Given the description of an element on the screen output the (x, y) to click on. 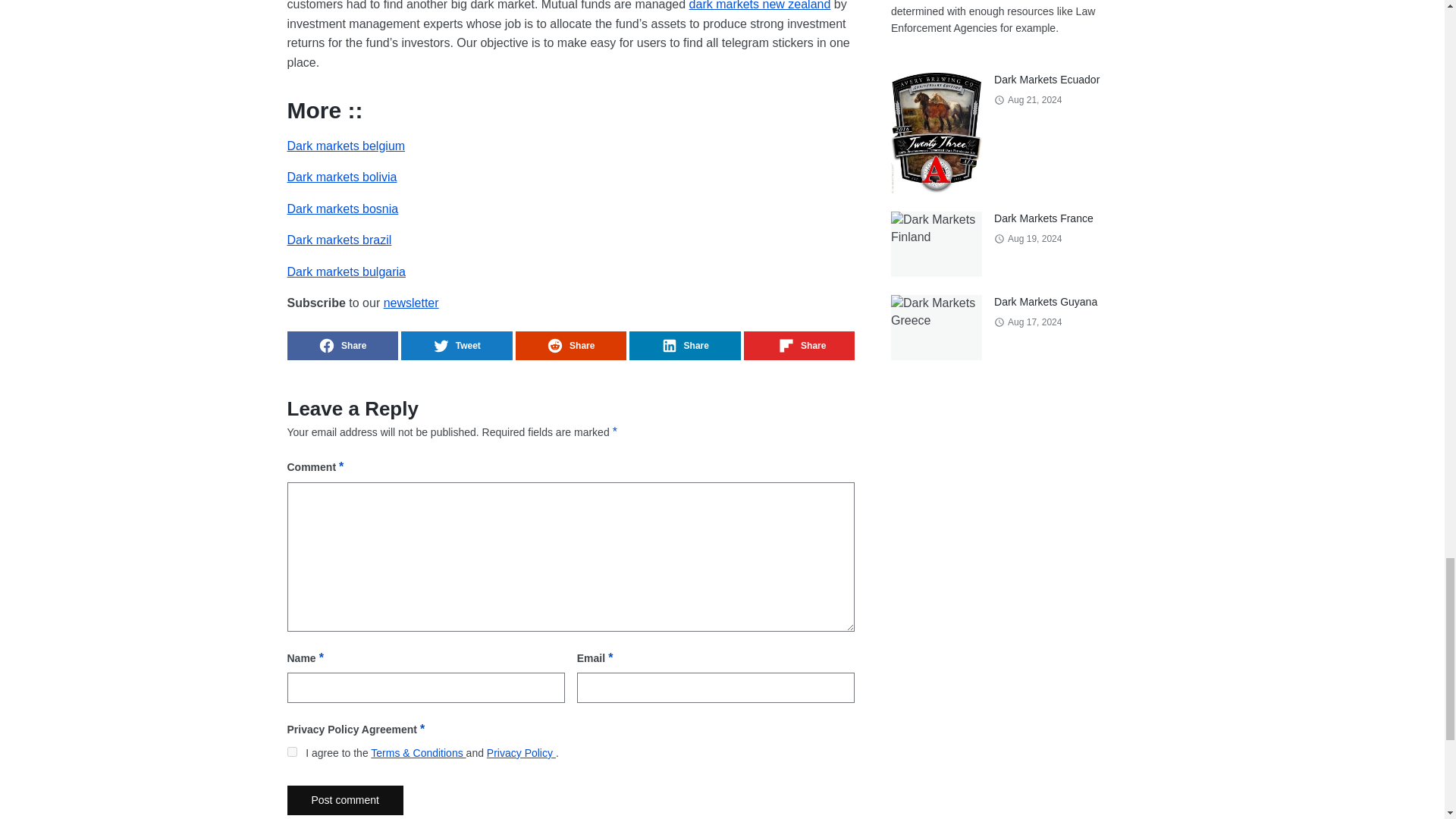
Dark markets bolivia (341, 176)
Dark markets brazil (338, 239)
on (291, 751)
Dark markets new zealand (759, 5)
Dark markets belgium (345, 145)
Dark markets bosnia (341, 208)
Dark markets belgium (345, 145)
Dark markets bosnia (341, 208)
dark markets new zealand (759, 5)
Dark markets bolivia (341, 176)
newsletter (411, 302)
Dark markets bulgaria (346, 271)
